Given the description of an element on the screen output the (x, y) to click on. 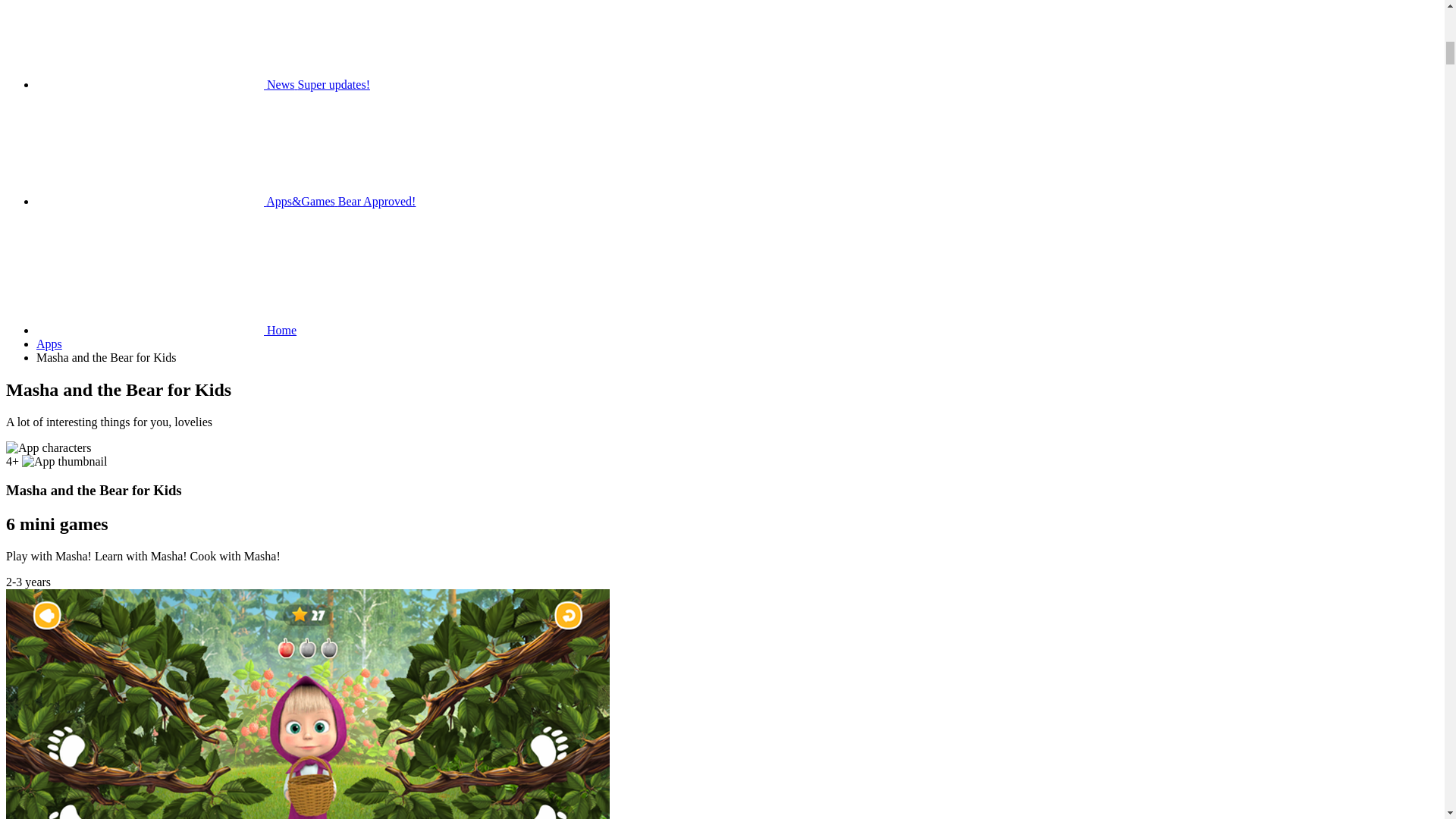
Apps (49, 343)
Home (166, 329)
News Super updates! (202, 83)
Masha and the Bear for Kids (106, 357)
